Given the description of an element on the screen output the (x, y) to click on. 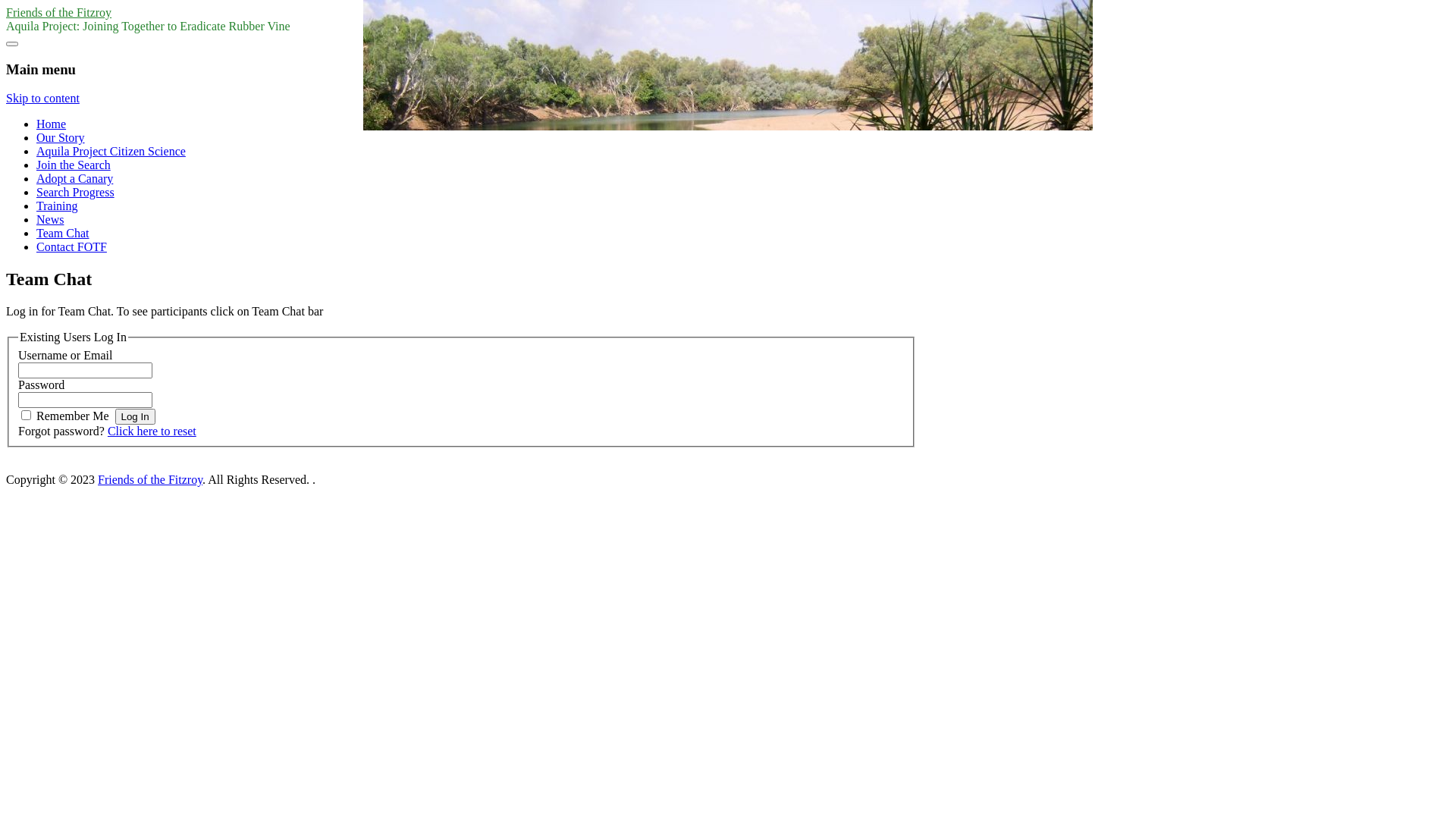
Training Element type: text (57, 205)
Search Progress Element type: text (75, 191)
Join the Search Element type: text (73, 164)
Team Chat Element type: text (62, 232)
Contact FOTF Element type: text (71, 246)
Our Story Element type: text (60, 137)
News Element type: text (49, 219)
Click here to reset Element type: text (151, 430)
Adopt a Canary Element type: text (74, 178)
Aquila Project Citizen Science Element type: text (110, 150)
Friends of the Fitzroy Element type: text (149, 479)
Log In Element type: text (135, 416)
Skip to content Element type: text (42, 97)
Friends of the Fitzroy Element type: text (58, 12)
Home Element type: text (50, 123)
